Given the description of an element on the screen output the (x, y) to click on. 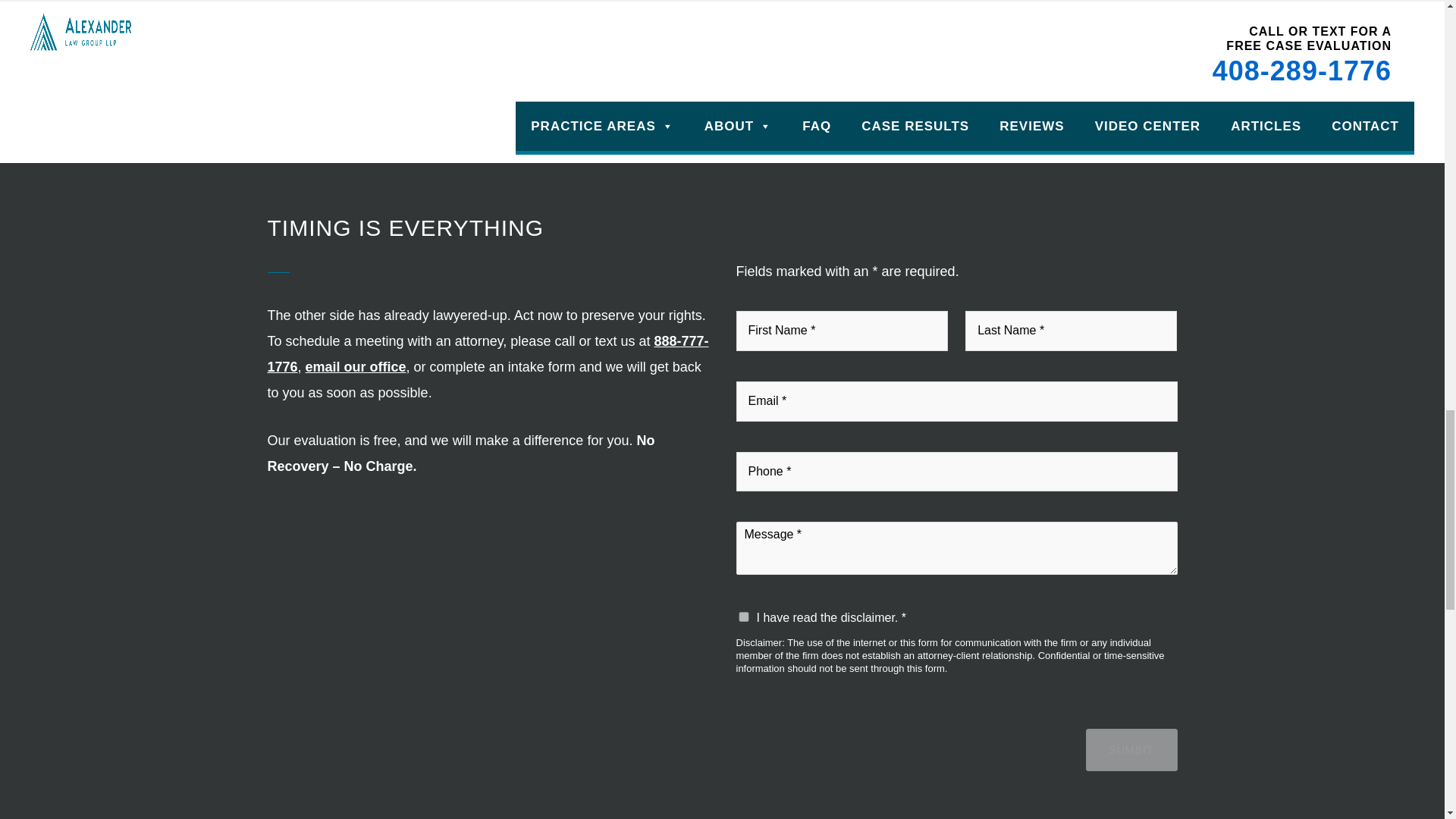
Firm News (375, 42)
